Given the description of an element on the screen output the (x, y) to click on. 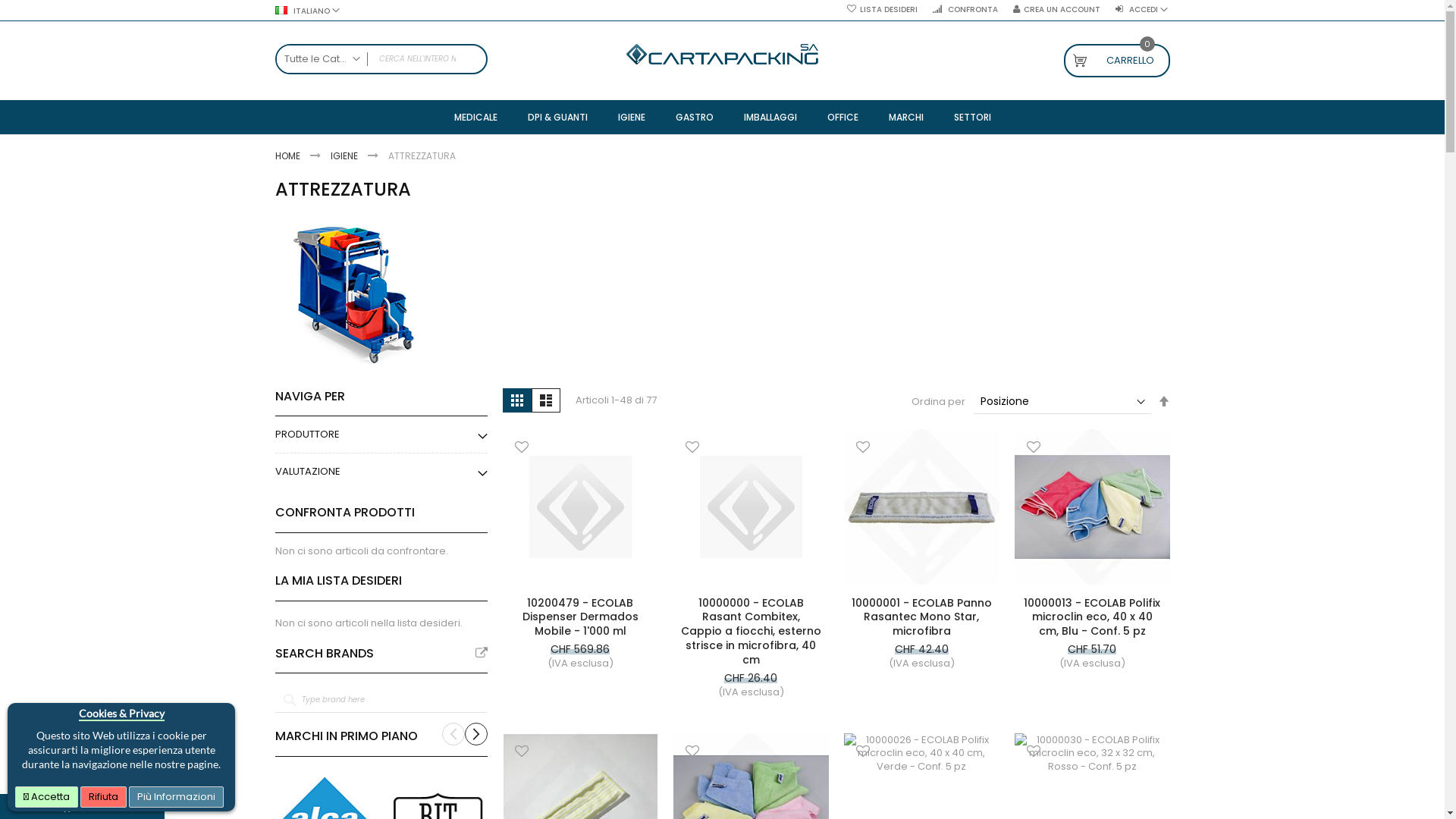
Aggiungi alla lista desideri Element type: hover (862, 448)
Aggiungi alla lista desideri Element type: hover (862, 752)
Rifiuta Element type: text (103, 796)
Attrezzatura Element type: hover (351, 295)
DPI & GUANTI Element type: text (557, 117)
Tutte le Categorie Element type: text (321, 58)
MARCHI Element type: text (905, 117)
AGGIUNGI AL CARRELLO Element type: text (936, 576)
OFFICE Element type: text (841, 117)
AGGIUNGI AL CARRELLO Element type: text (595, 576)
HOME Element type: text (287, 155)
Aggiungi alla lista desideri Element type: hover (521, 448)
Imposta la direzione decrescente Element type: text (1163, 401)
SETTORI Element type: text (972, 117)
Aggiungi alla lista desideri Element type: hover (521, 752)
CONFRONTA Element type: text (964, 9)
ALL BRANDS Element type: text (480, 652)
10200479 - ECOLAB Dispenser Dermados Mobile - 1'000 ml Element type: text (579, 617)
Aggiungi alla lista desideri Element type: hover (691, 752)
IGIENE Element type: text (630, 117)
SEARCH Element type: text (471, 58)
LISTA DESIDERI Element type: text (881, 9)
Accetta Element type: text (46, 796)
AGGIUNGI AL CARRELLO Element type: text (1107, 576)
Lista Element type: text (544, 400)
Salta al contenuto Element type: text (353, 3)
Aggiungi alla lista desideri Element type: hover (691, 448)
10000001 - ECOLAB Panno Rasantec Mono Star, microfibra Element type: text (920, 617)
Aggiungi alla lista desideri Element type: hover (1032, 752)
GASTRO Element type: text (693, 117)
MEDICALE Element type: text (474, 117)
IGIENE Element type: text (345, 155)
Aggiungi alla lista desideri Element type: hover (1032, 448)
IMBALLAGGI Element type: text (769, 117)
CARRELLO
0 Element type: text (1116, 60)
CREA UN ACCOUNT Element type: text (1056, 9)
AGGIUNGI AL CARRELLO Element type: text (765, 576)
Cartapacking SA Element type: hover (722, 53)
